Given the description of an element on the screen output the (x, y) to click on. 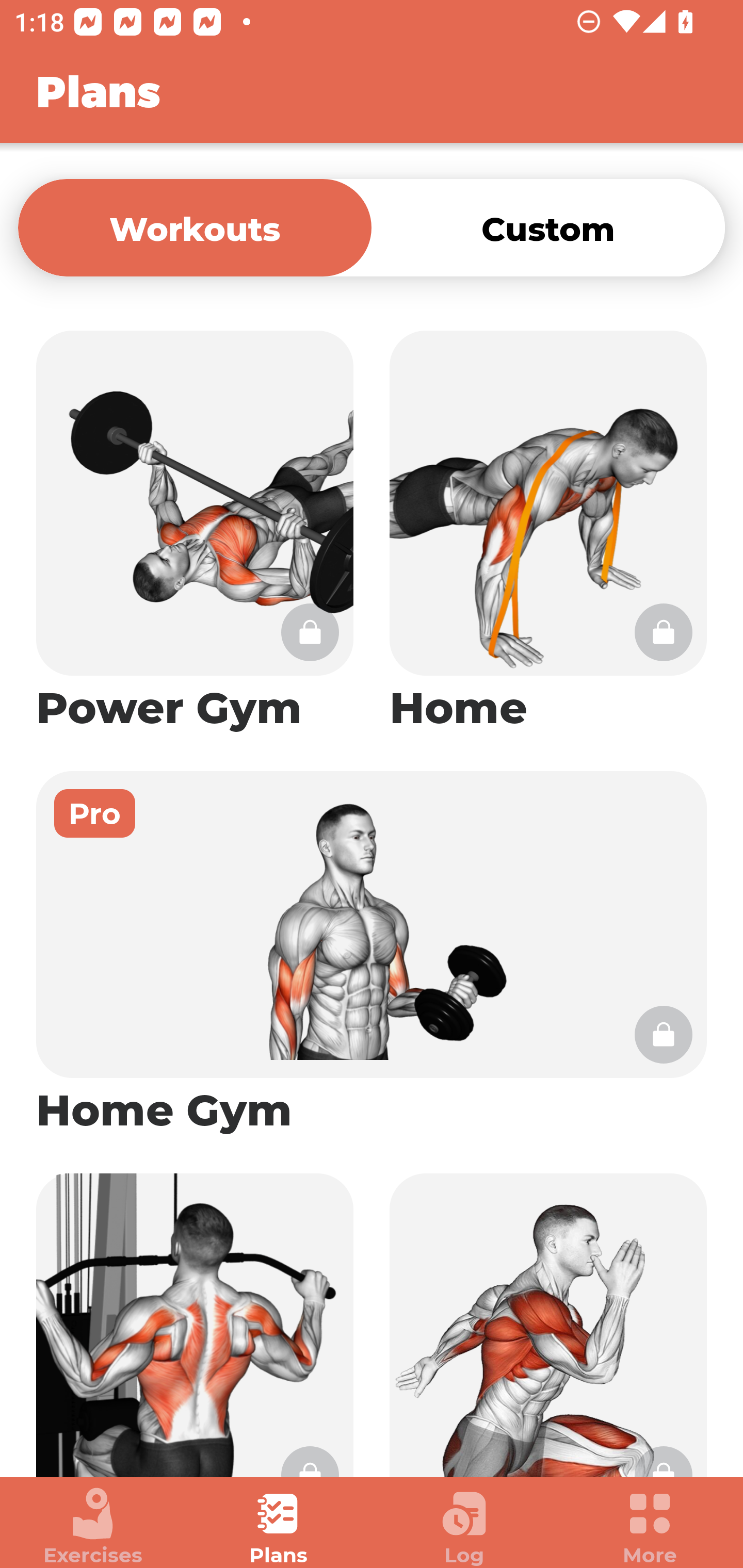
Workouts (194, 226)
Custom (548, 226)
Power Gym (194, 532)
Home (548, 532)
Pro Home Gym (371, 953)
Exercises (92, 1527)
Plans (278, 1527)
Log (464, 1527)
More (650, 1527)
